Given the description of an element on the screen output the (x, y) to click on. 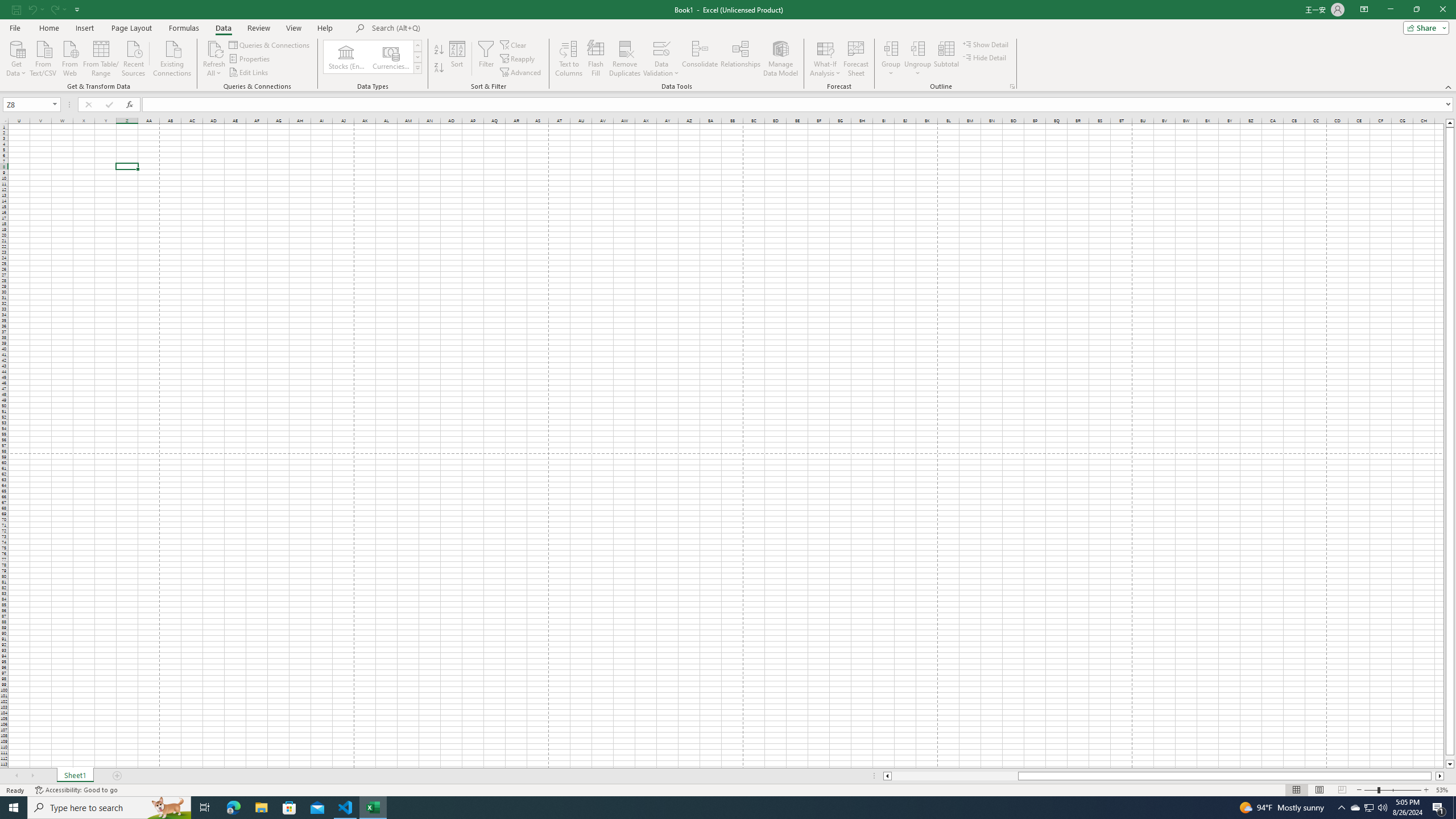
Consolidate... (700, 58)
